Given the description of an element on the screen output the (x, y) to click on. 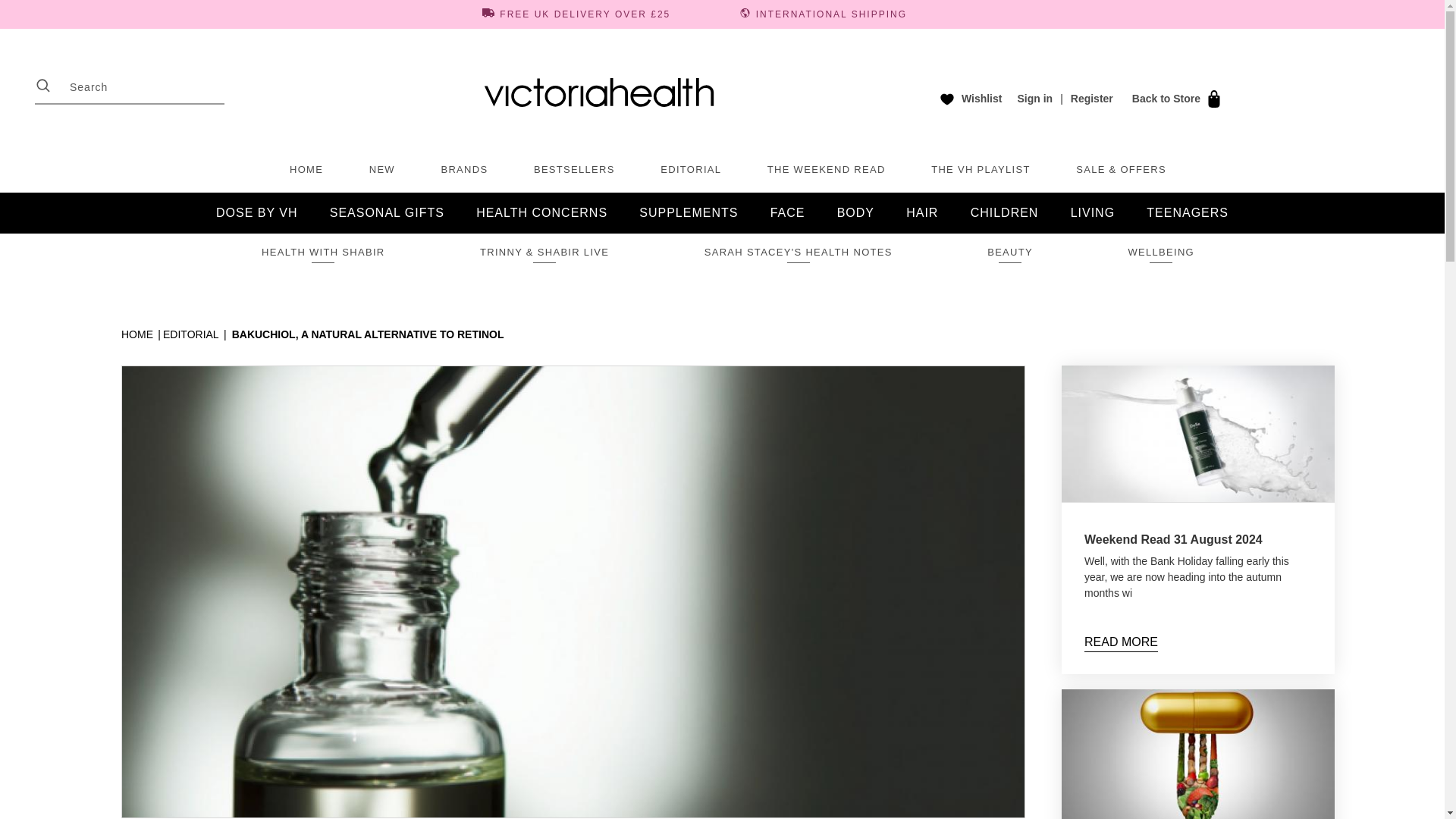
Back to Store (1174, 99)
Sign in (1034, 98)
Wishlist (967, 98)
THE VH PLAYLIST (981, 169)
EDITORIAL (690, 169)
THE WEEKEND READ (825, 169)
DOSE BY VH (261, 212)
Click here to visit the Victoria Health Store (1174, 99)
Register (1091, 98)
